Given the description of an element on the screen output the (x, y) to click on. 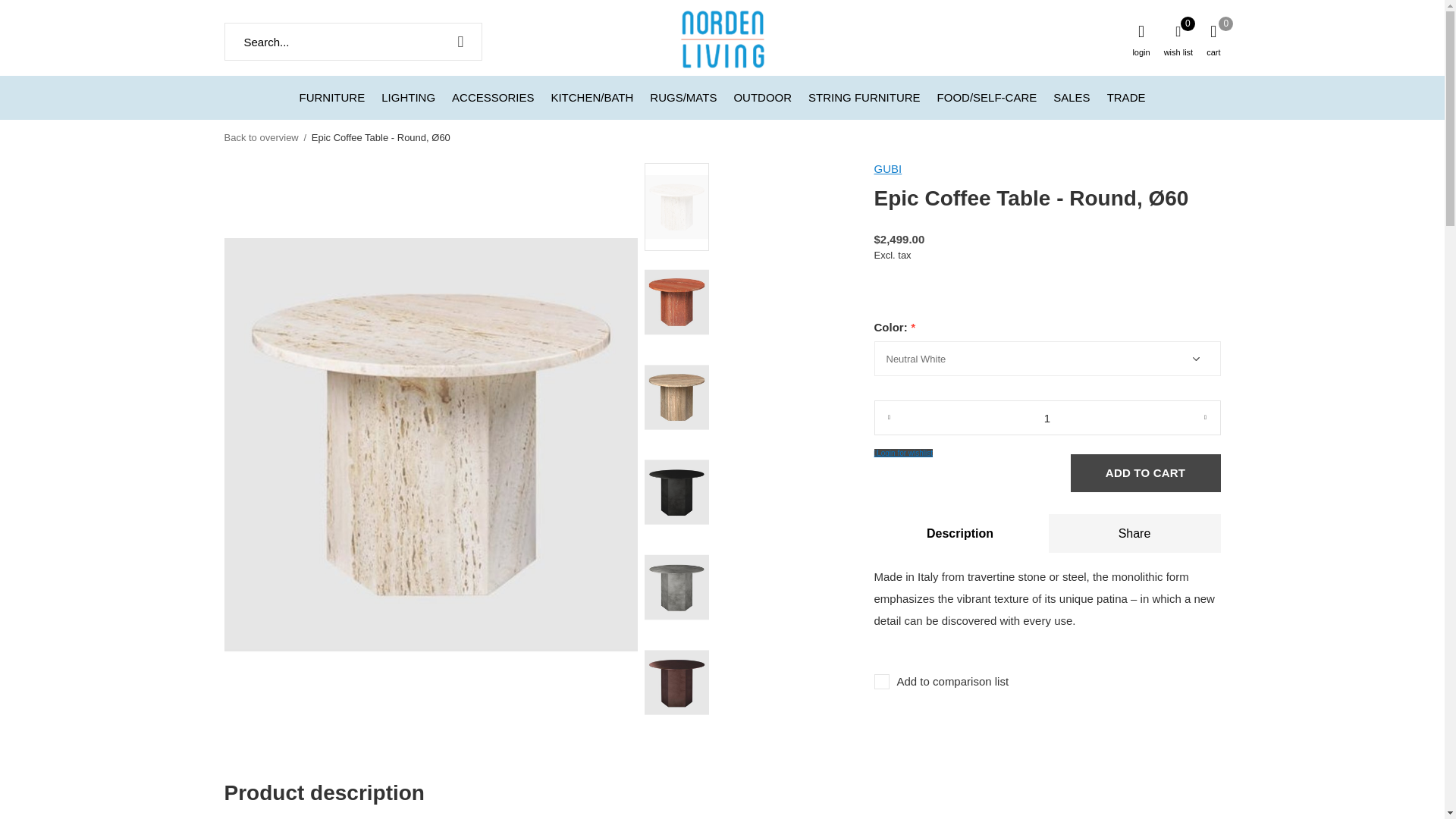
LIGHTING (408, 96)
1 (1046, 417)
FURNITURE (332, 96)
